Given the description of an element on the screen output the (x, y) to click on. 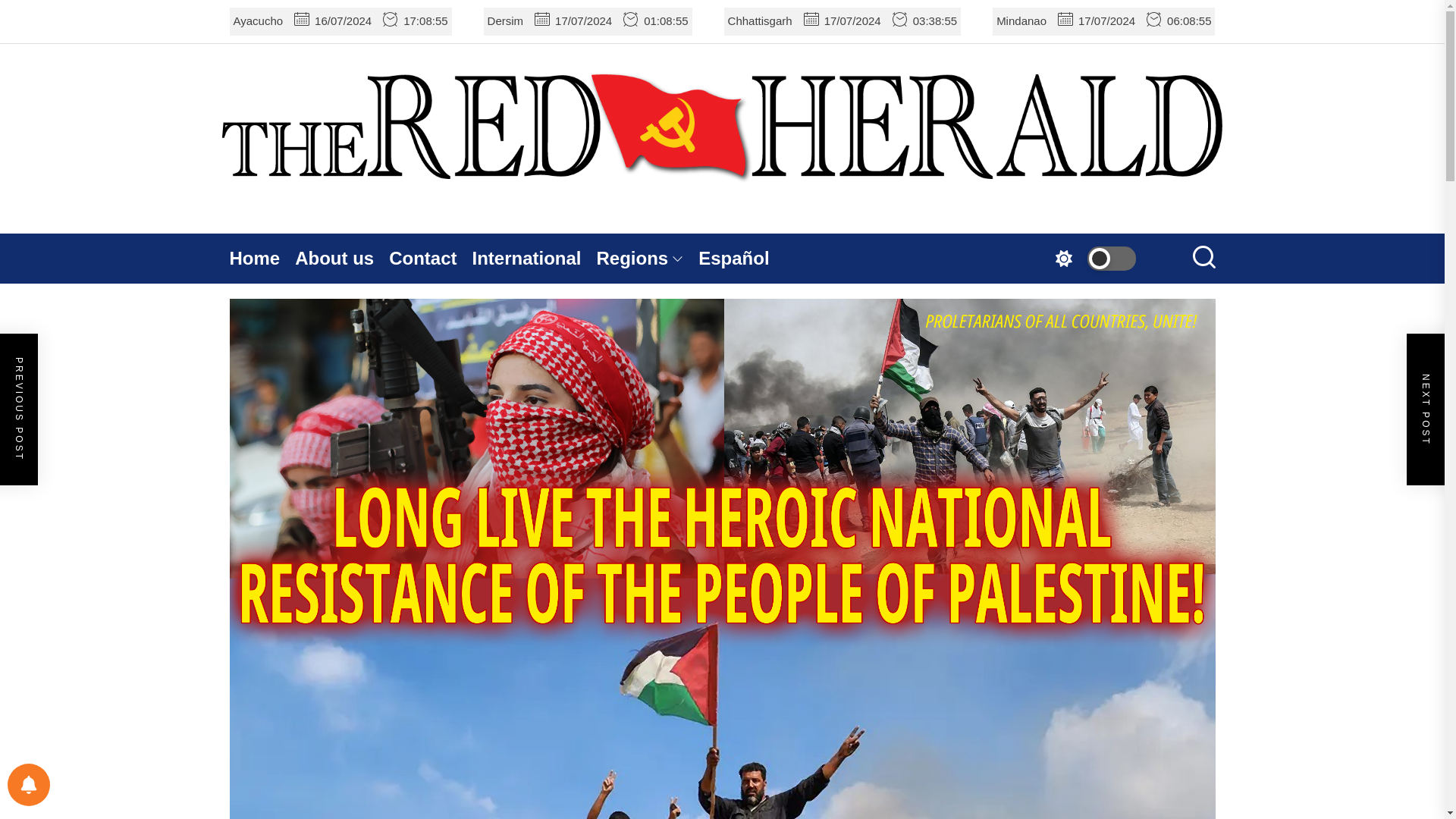
Regions (647, 258)
Home (261, 258)
International (533, 258)
Contact (429, 258)
About us (341, 258)
